Given the description of an element on the screen output the (x, y) to click on. 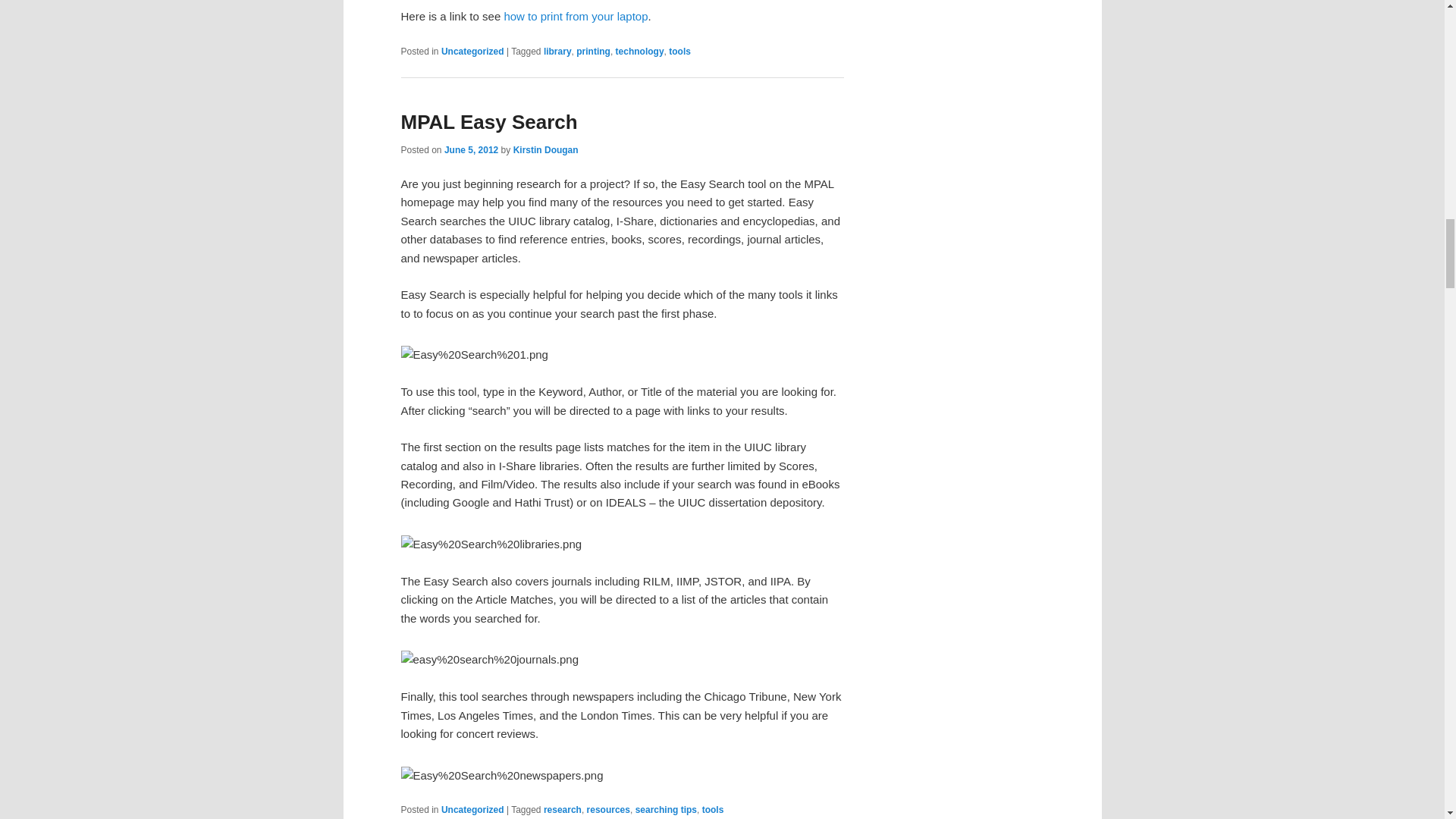
technology (639, 50)
library (557, 50)
how to print from your laptop (575, 15)
printing (593, 50)
Uncategorized (472, 50)
tools (679, 50)
View all posts by Kirstin Dougan (545, 149)
MPAL Easy Search (488, 121)
1:06 pm (470, 149)
